Given the description of an element on the screen output the (x, y) to click on. 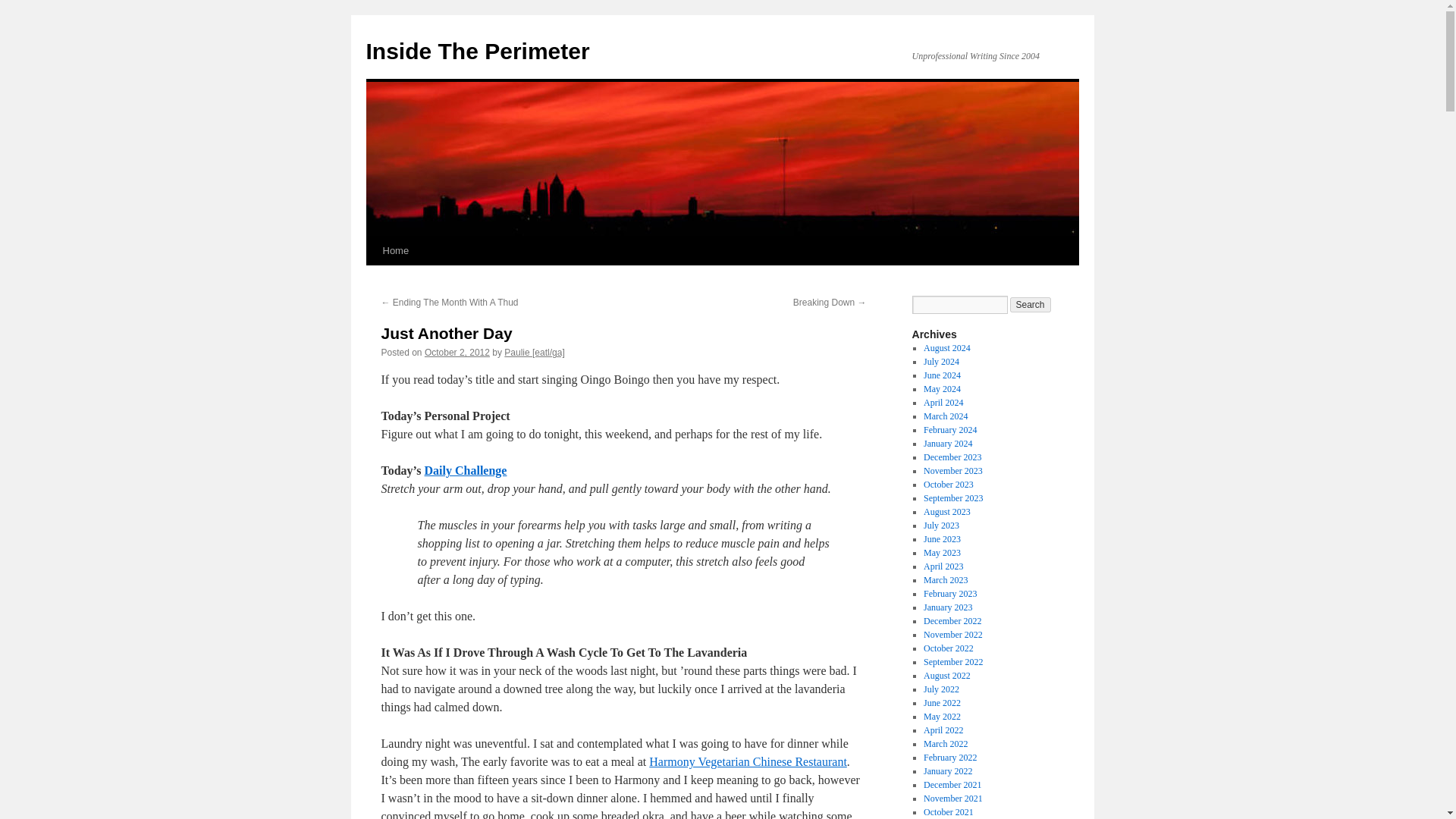
Daily Challenge (465, 470)
Inside The Perimeter (477, 50)
October 2, 2012 (457, 352)
Home (395, 250)
9:33 am (457, 352)
Search (1030, 304)
Harmony Vegetarian Chinese Restaurant (748, 761)
